Given the description of an element on the screen output the (x, y) to click on. 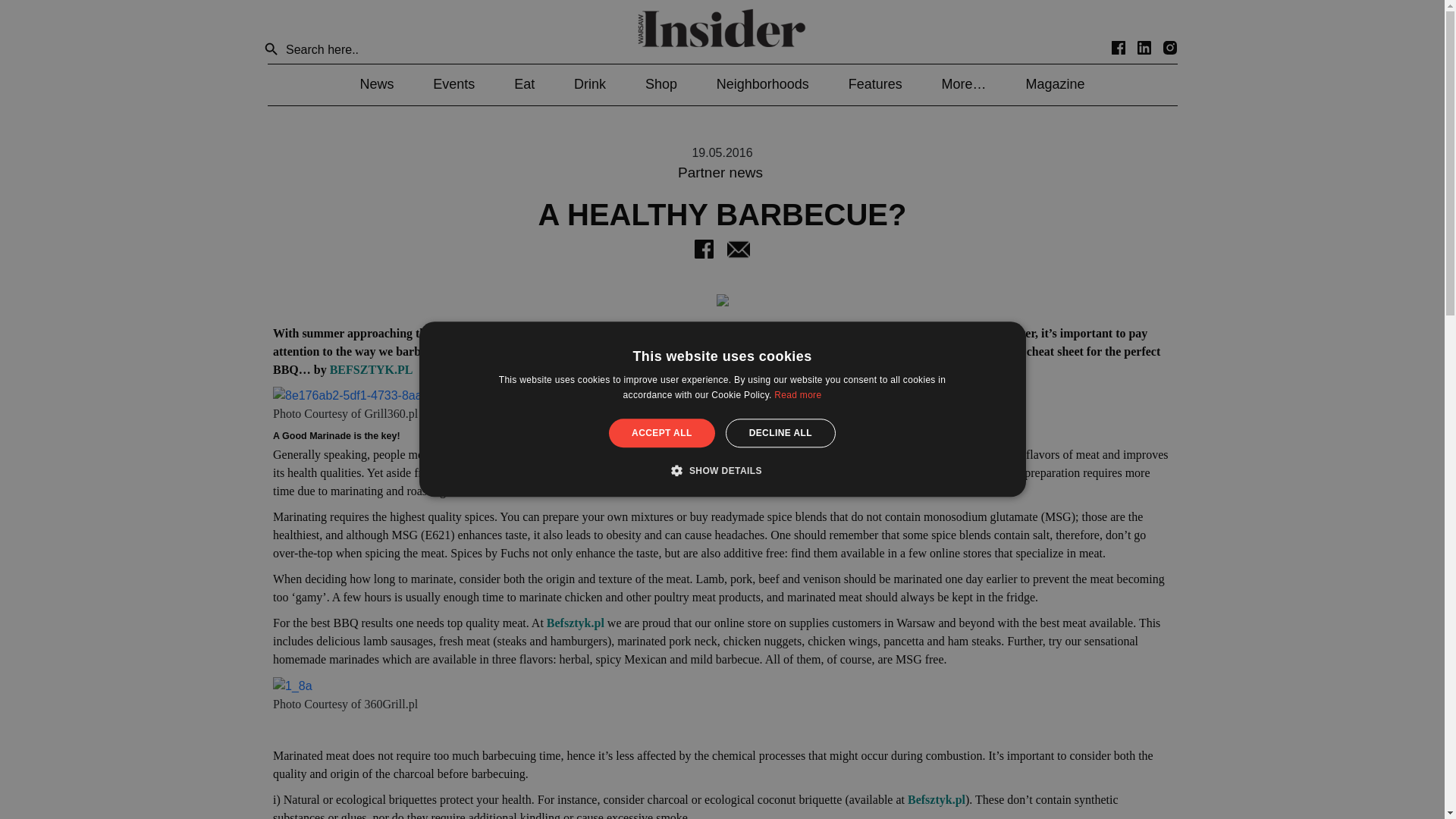
Shop (661, 83)
Drink (589, 83)
Eat (523, 83)
Search Button (271, 49)
Events (453, 83)
Features (875, 83)
Neighborhoods (762, 83)
News (376, 83)
Magazine (1054, 83)
